Given the description of an element on the screen output the (x, y) to click on. 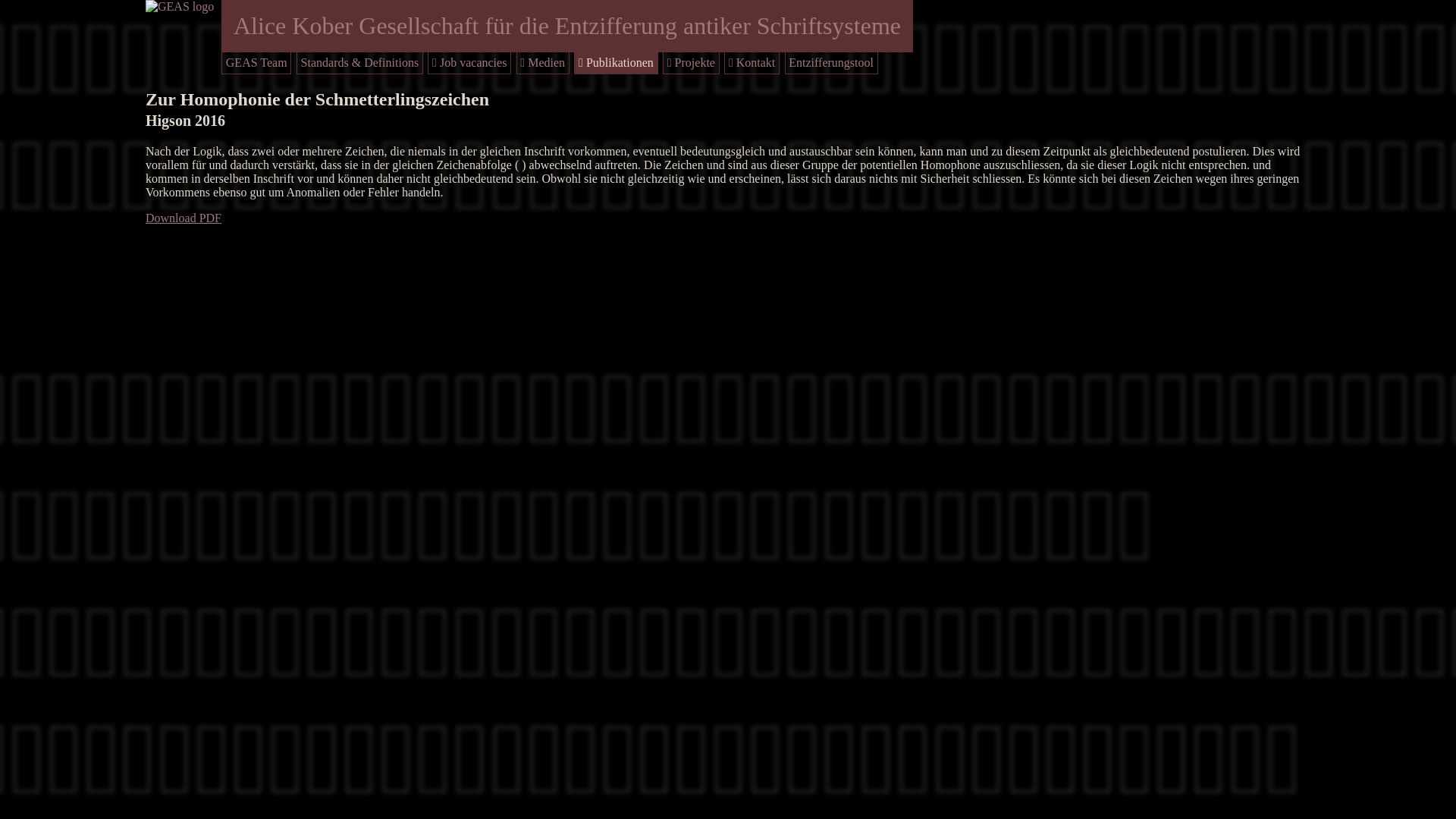
Entzifferungstool Element type: text (830, 62)
Standards & Definitions Element type: text (360, 62)
Download PDF Element type: text (183, 217)
GEAS Team Element type: text (256, 62)
